Given the description of an element on the screen output the (x, y) to click on. 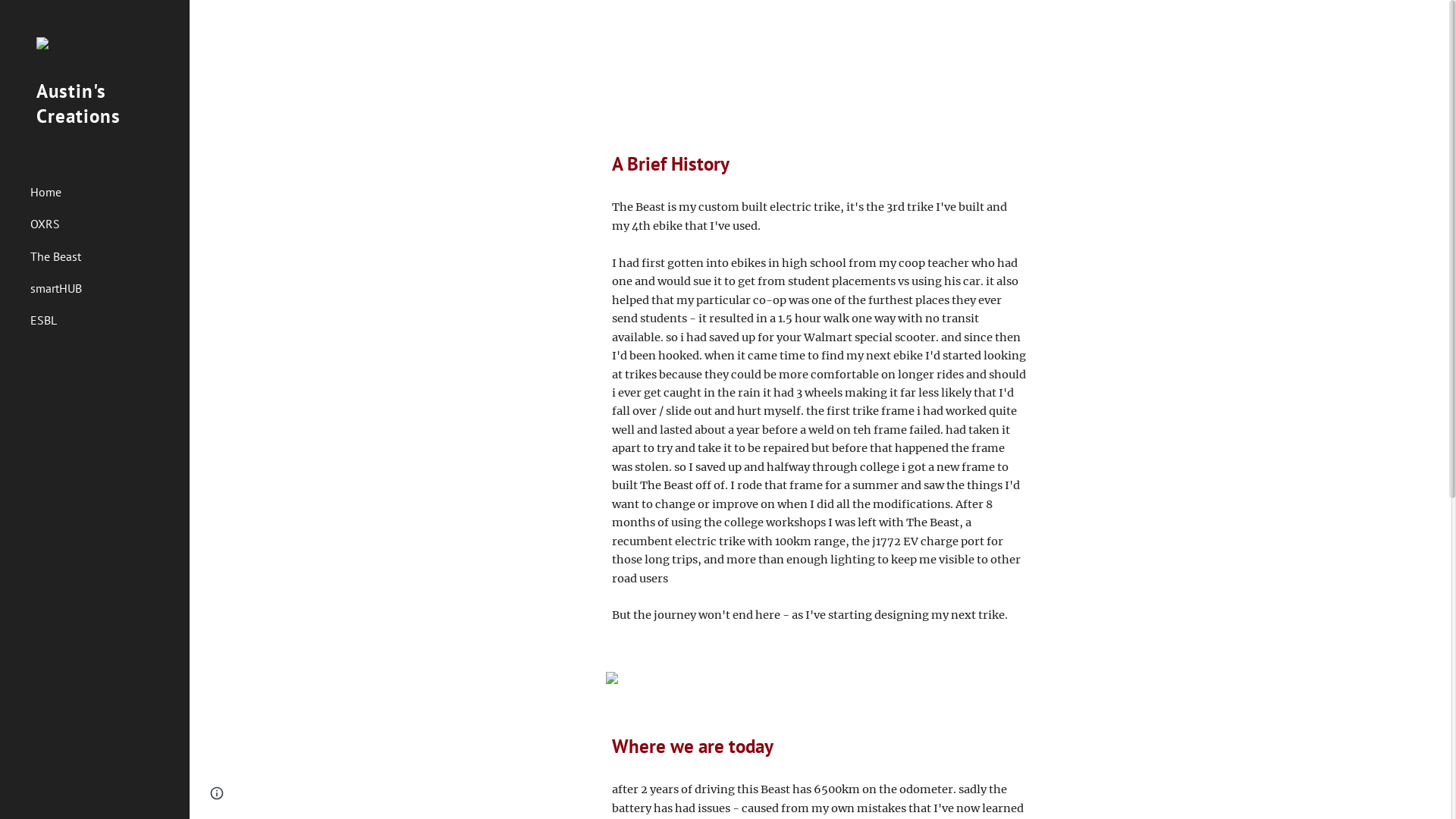
Home Element type: text (103, 191)
smartHUB Element type: text (103, 288)
ESBL Element type: text (103, 320)
Austin's Creations Element type: text (94, 122)
OXRS Element type: text (103, 224)
The Beast Element type: text (103, 256)
